Given the description of an element on the screen output the (x, y) to click on. 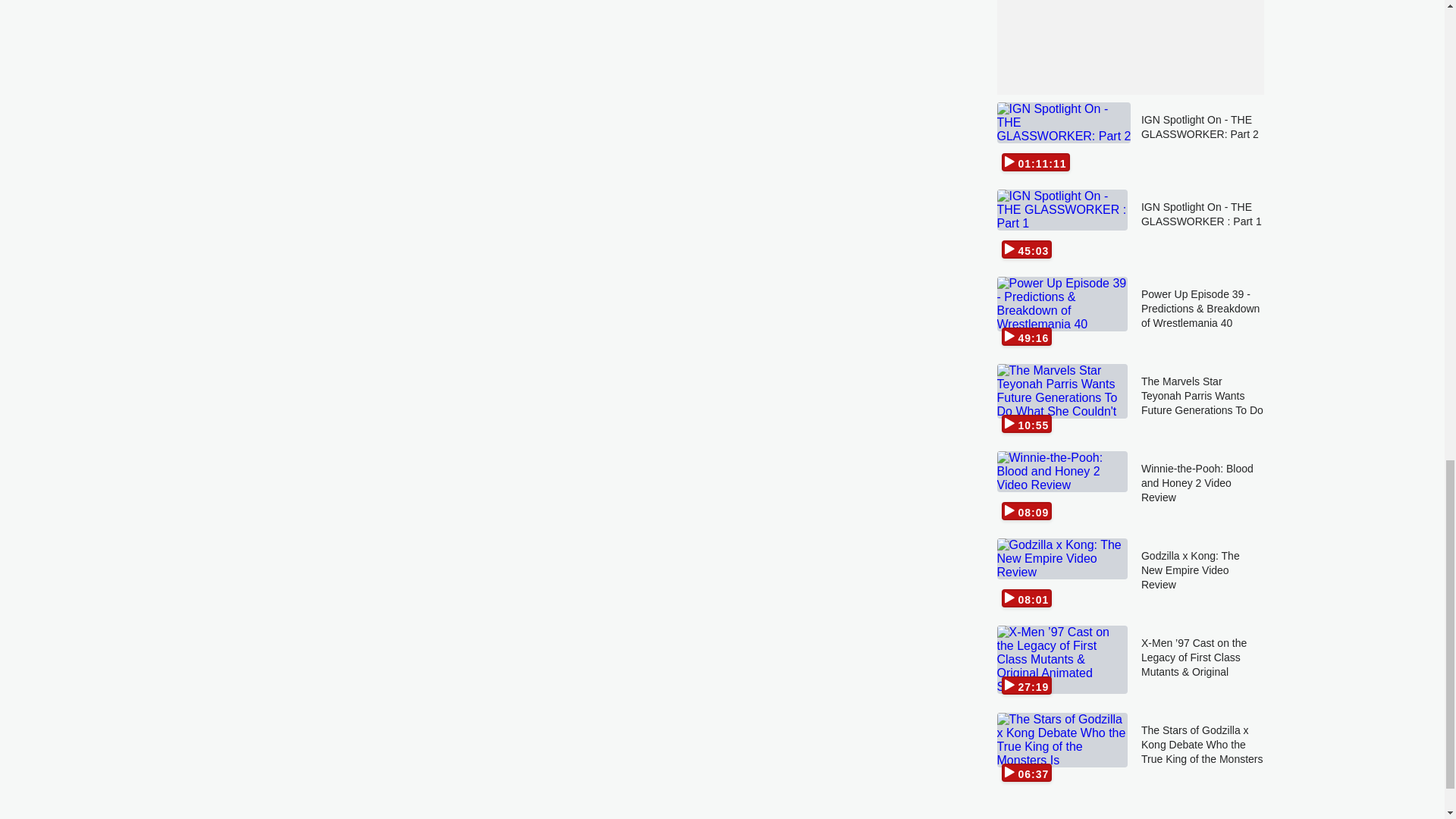
IGN Spotlight On - THE GLASSWORKER : Part 1 (1202, 225)
45:03 (1060, 225)
IGN Spotlight On - THE GLASSWORKER: Part 2 (1202, 139)
01:11:11 (1060, 139)
